Given the description of an element on the screen output the (x, y) to click on. 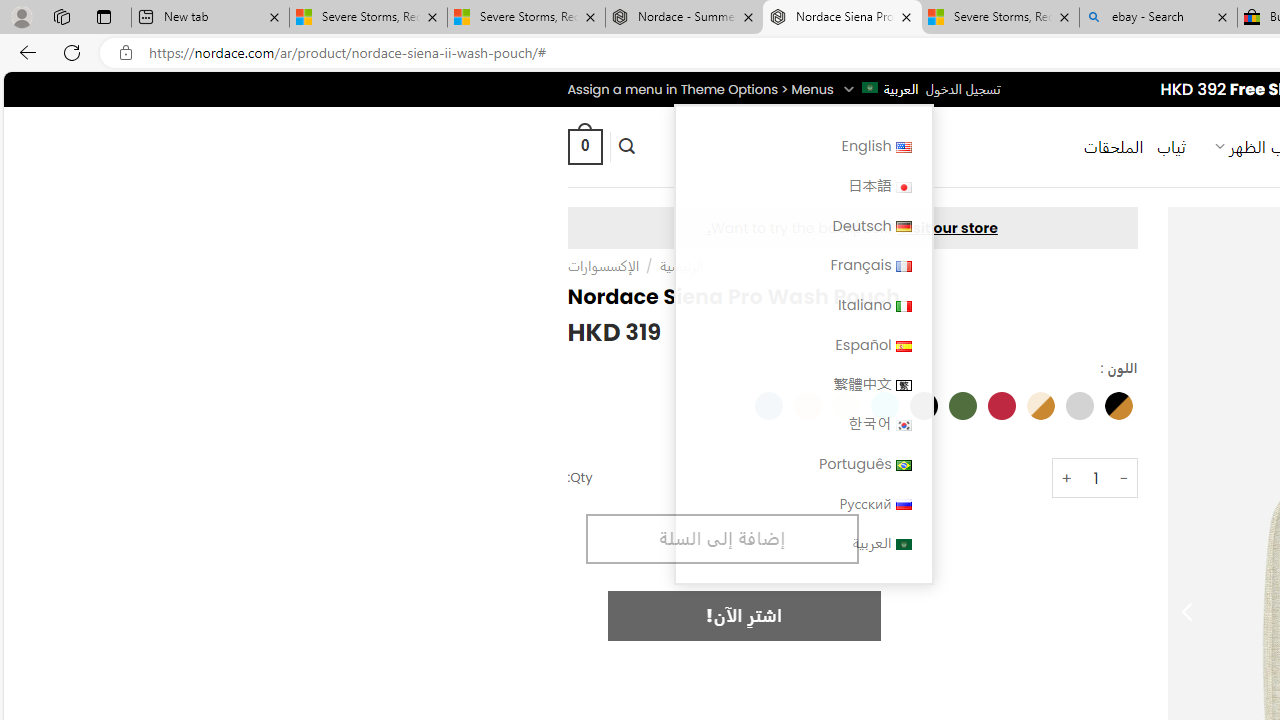
English (902, 146)
English English (802, 145)
